Given the description of an element on the screen output the (x, y) to click on. 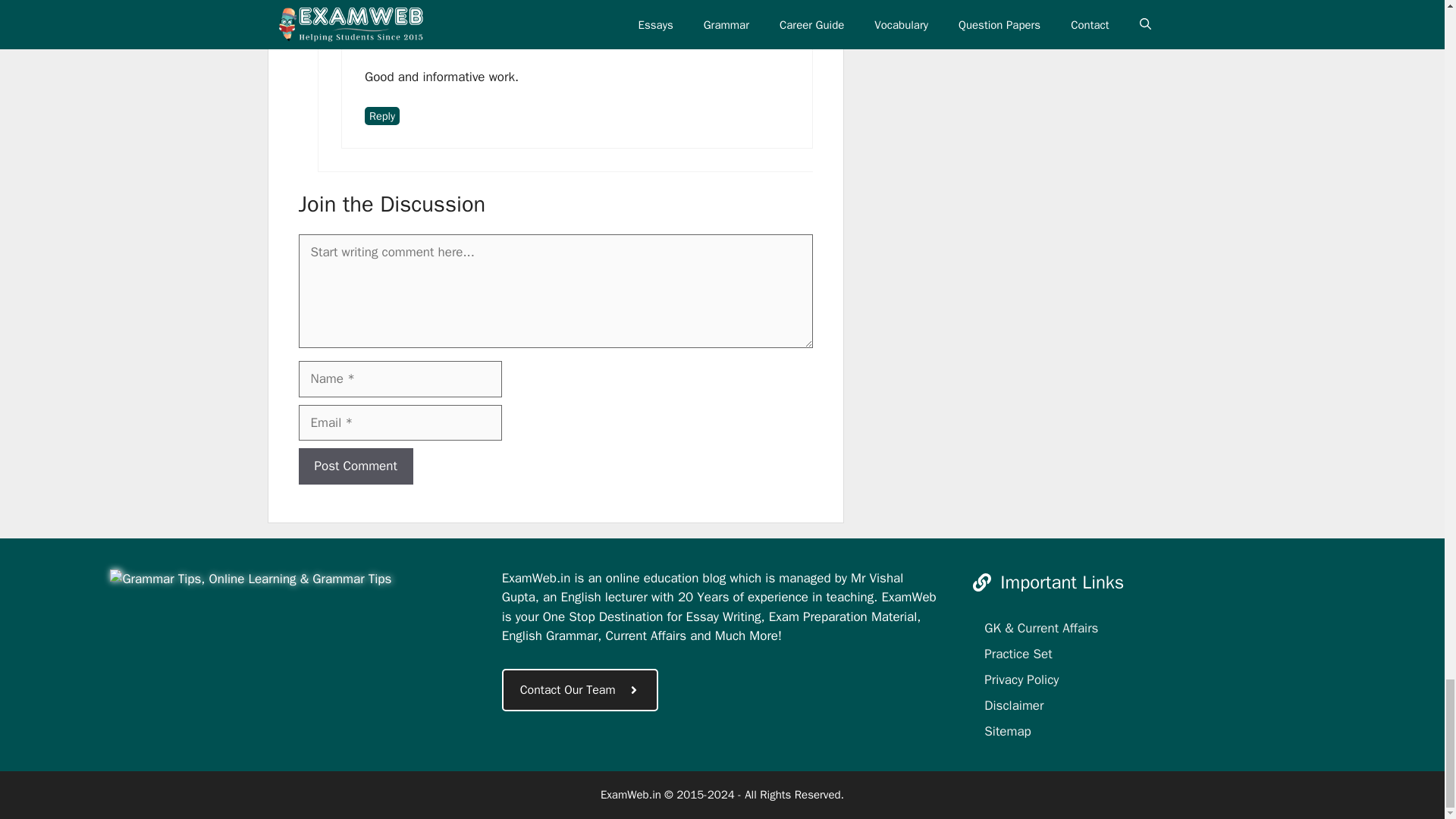
Post Comment (355, 465)
Reply (381, 116)
examweb.in (250, 578)
Post Comment (355, 465)
